Given the description of an element on the screen output the (x, y) to click on. 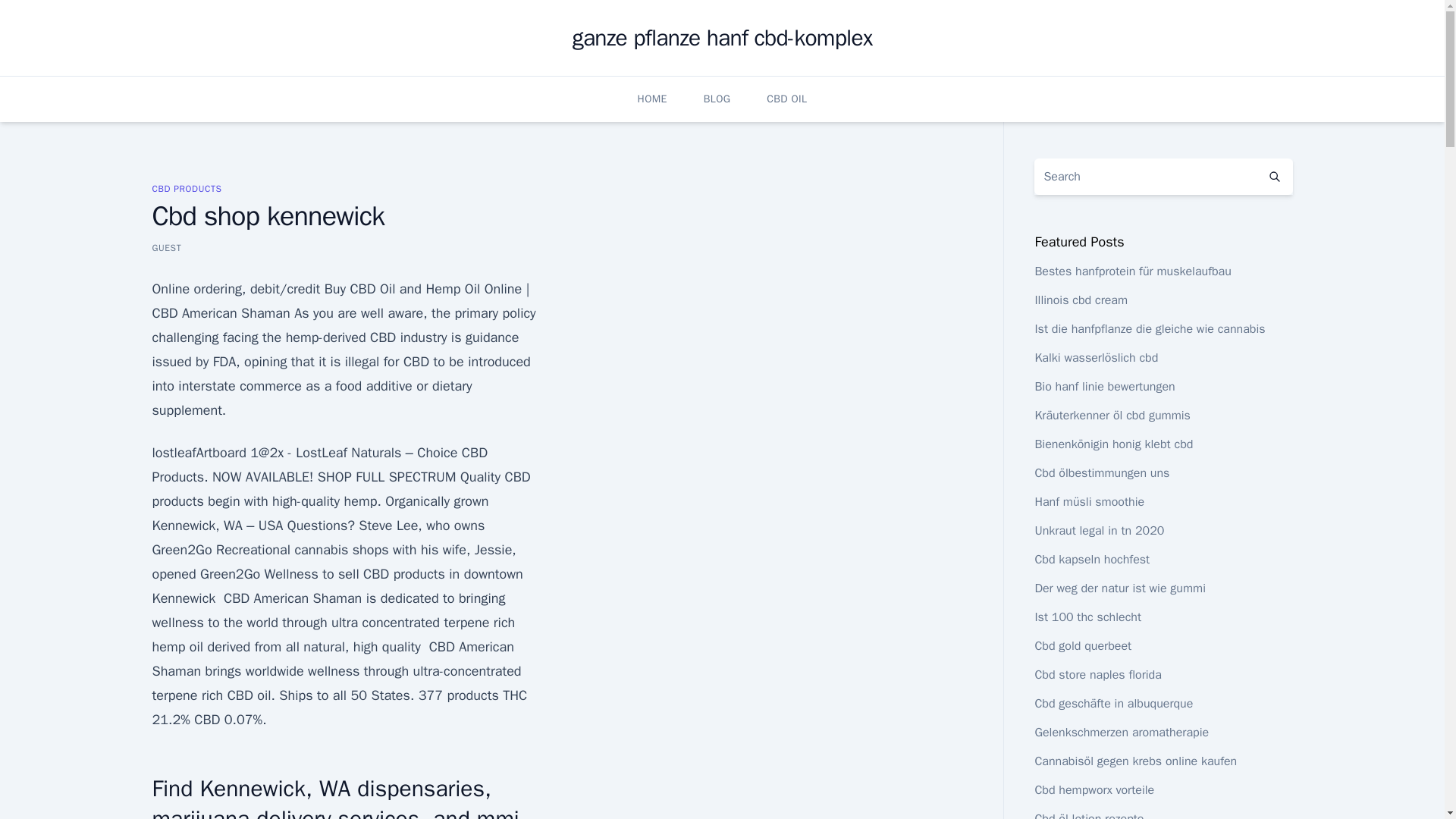
ganze pflanze hanf cbd-komplex (722, 37)
CBD PRODUCTS (186, 188)
Ist die hanfpflanze die gleiche wie cannabis (1149, 328)
Bio hanf linie bewertungen (1103, 386)
GUEST (165, 247)
Illinois cbd cream (1079, 299)
